Given the description of an element on the screen output the (x, y) to click on. 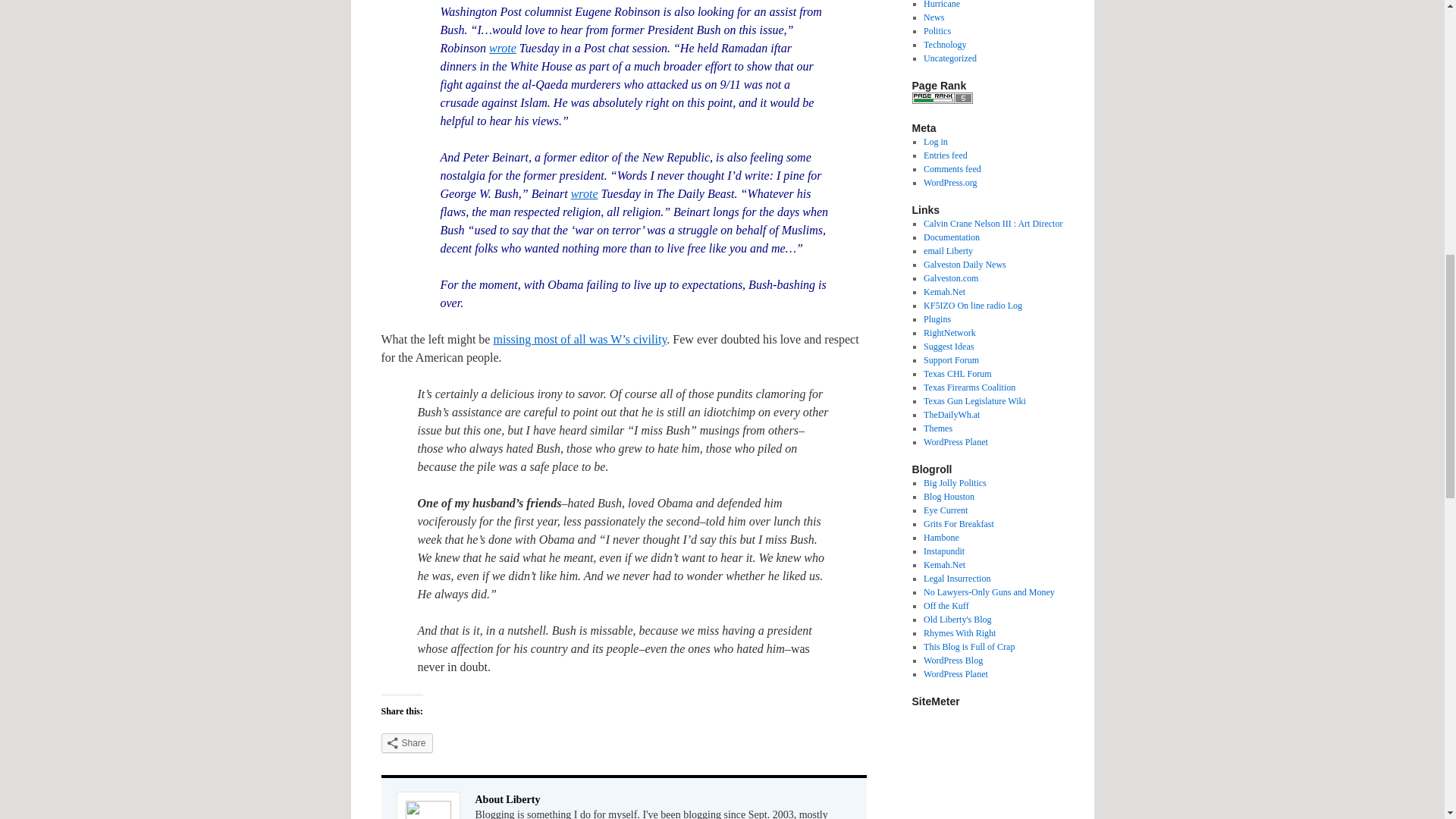
Share (406, 742)
HDS Graphic Design : Web and Print Graphic Art (992, 223)
Contact me via email. (947, 250)
PageRank (941, 100)
Politic,s Government and opinions. (936, 30)
wrote (584, 193)
wrote (502, 47)
